Given the description of an element on the screen output the (x, y) to click on. 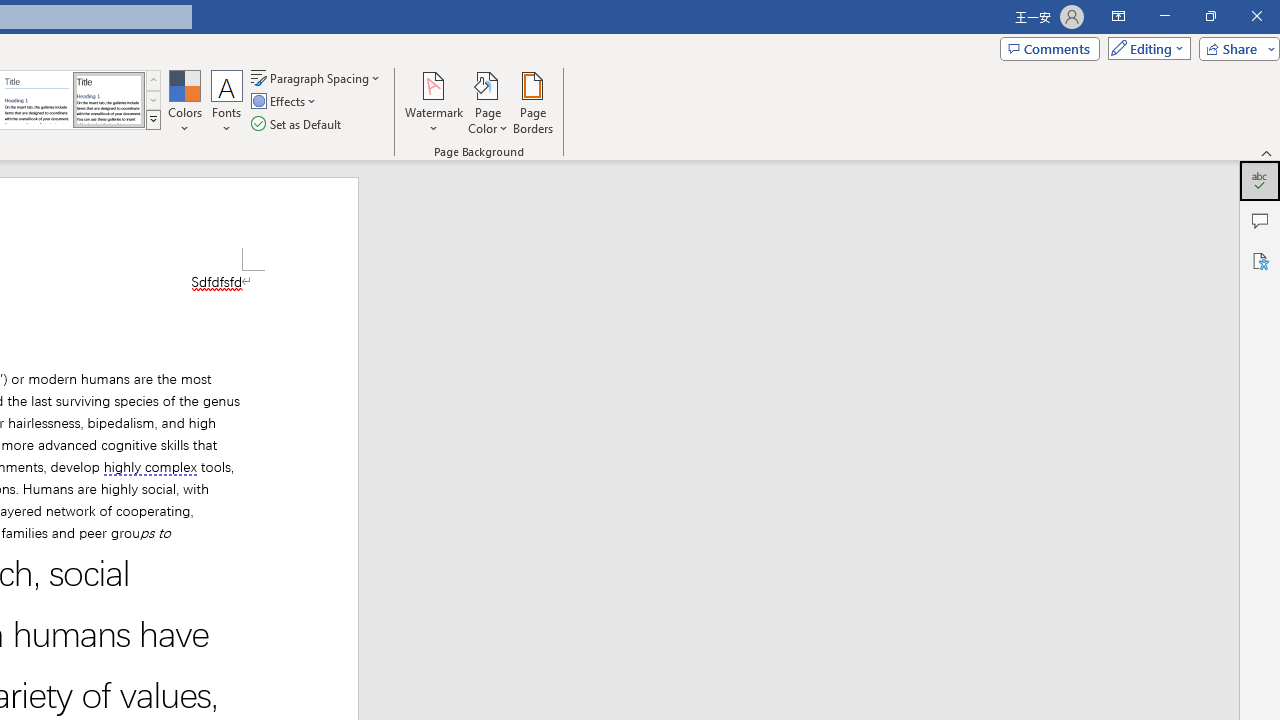
Word 2010 (36, 100)
Page Borders... (532, 102)
Fonts (227, 102)
Accessibility (1260, 260)
Style Set (153, 120)
Page Color (487, 102)
Paragraph Spacing (317, 78)
Colors (184, 102)
